Given the description of an element on the screen output the (x, y) to click on. 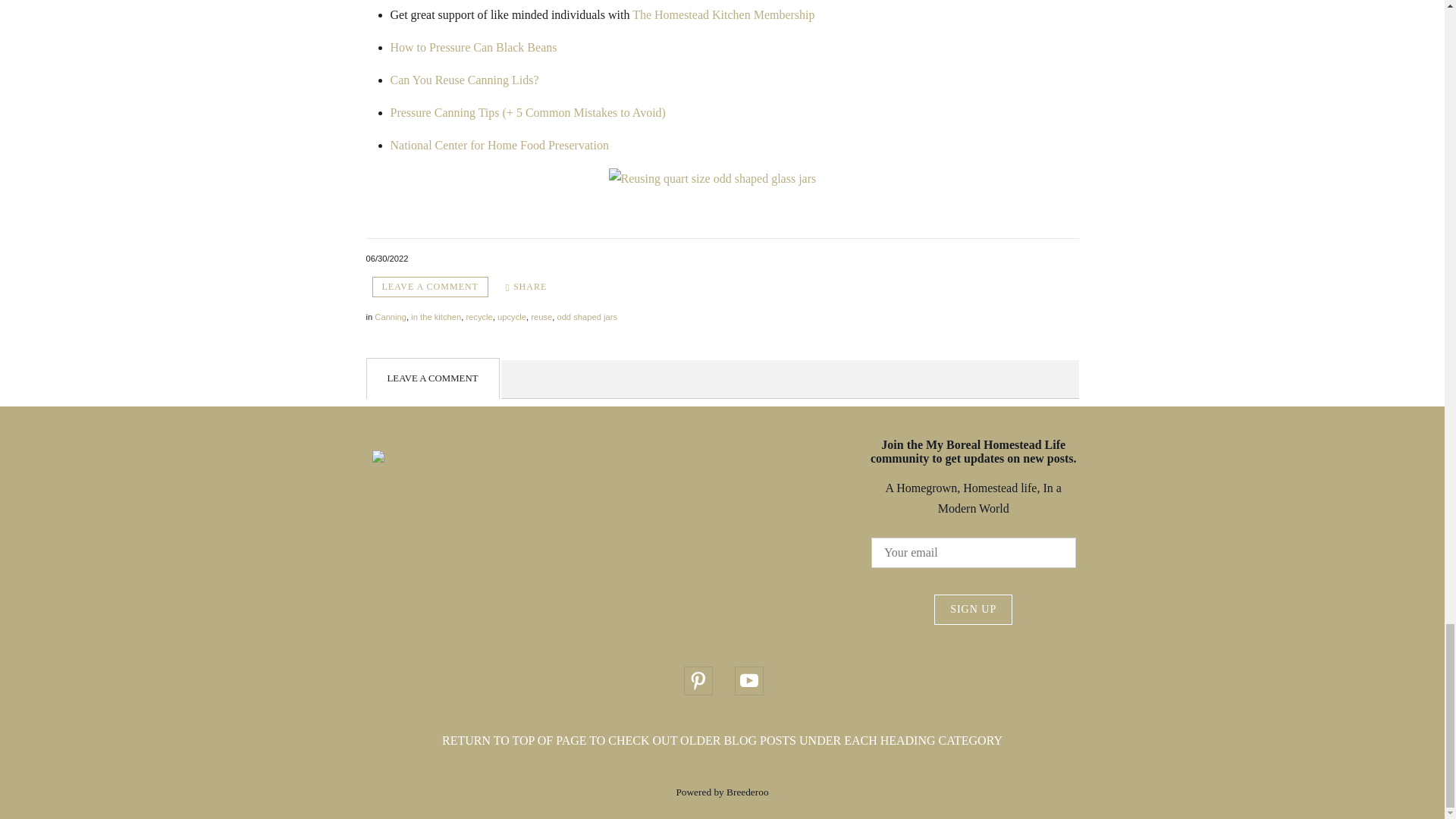
June 30, 2022 07:47 (386, 257)
Powered by Breederoo (721, 791)
Leave a comment (429, 286)
